Given the description of an element on the screen output the (x, y) to click on. 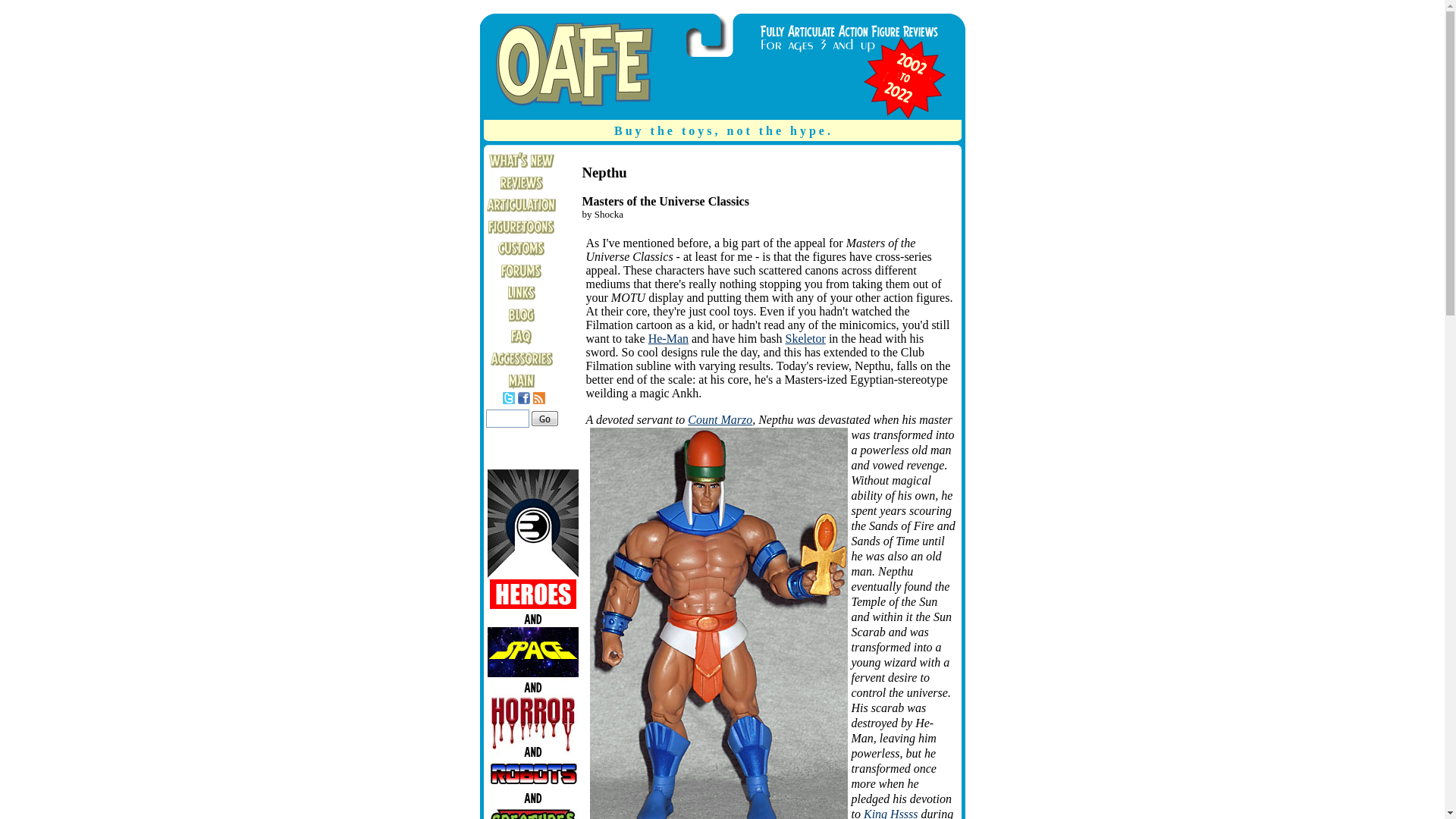
King Hssss (890, 813)
Skeletor (805, 338)
He-Man (667, 338)
Count Marzo (719, 419)
